Given the description of an element on the screen output the (x, y) to click on. 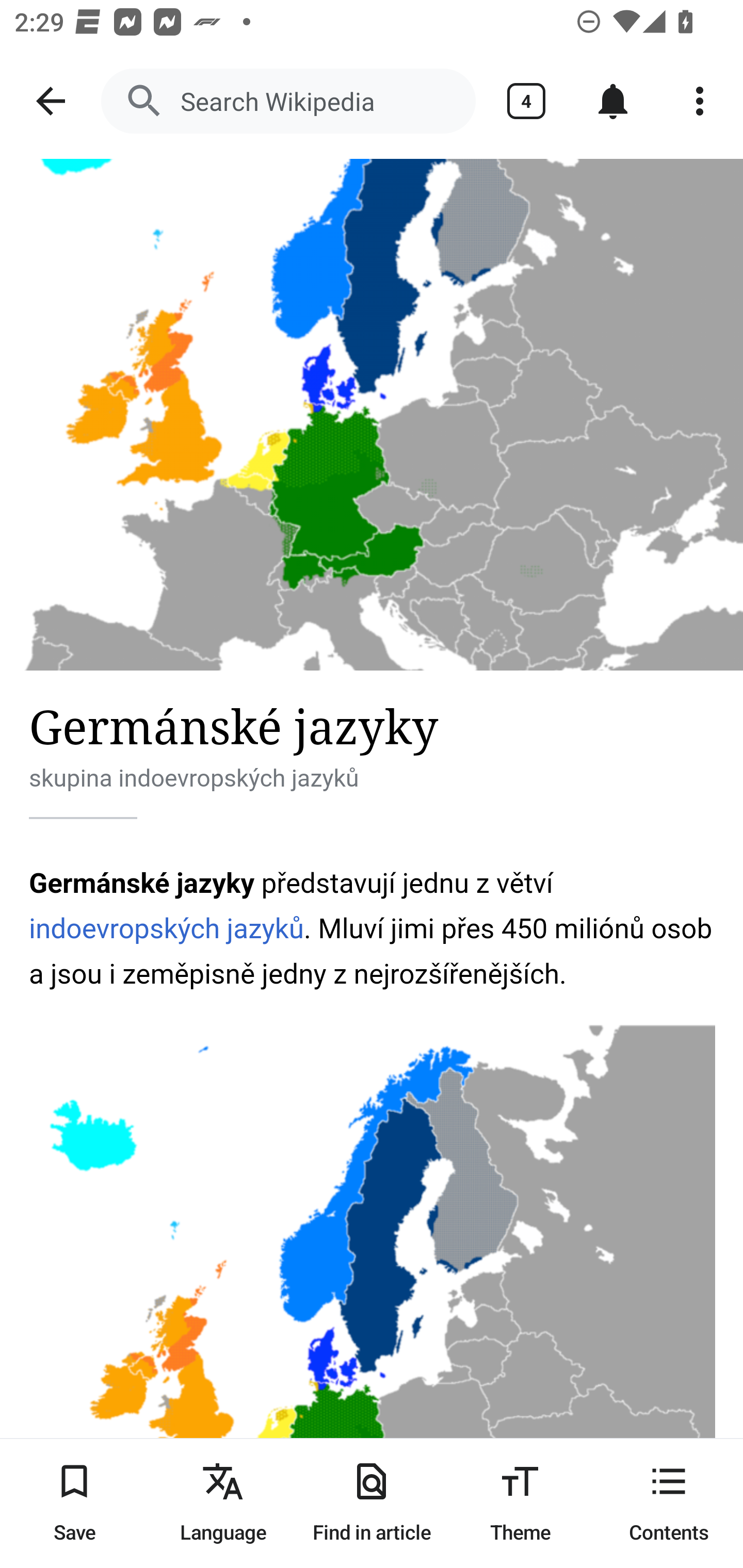
Show tabs 4 (525, 100)
Notifications (612, 100)
Navigate up (50, 101)
More options (699, 101)
Search Wikipedia (288, 100)
Image: Germánské jazyky (371, 414)
indoevropských jazyků (166, 928)
640px-Germanic_languages_in_Europe (372, 1295)
Save (74, 1502)
Language (222, 1502)
Find in article (371, 1502)
Theme (519, 1502)
Contents (668, 1502)
